Given the description of an element on the screen output the (x, y) to click on. 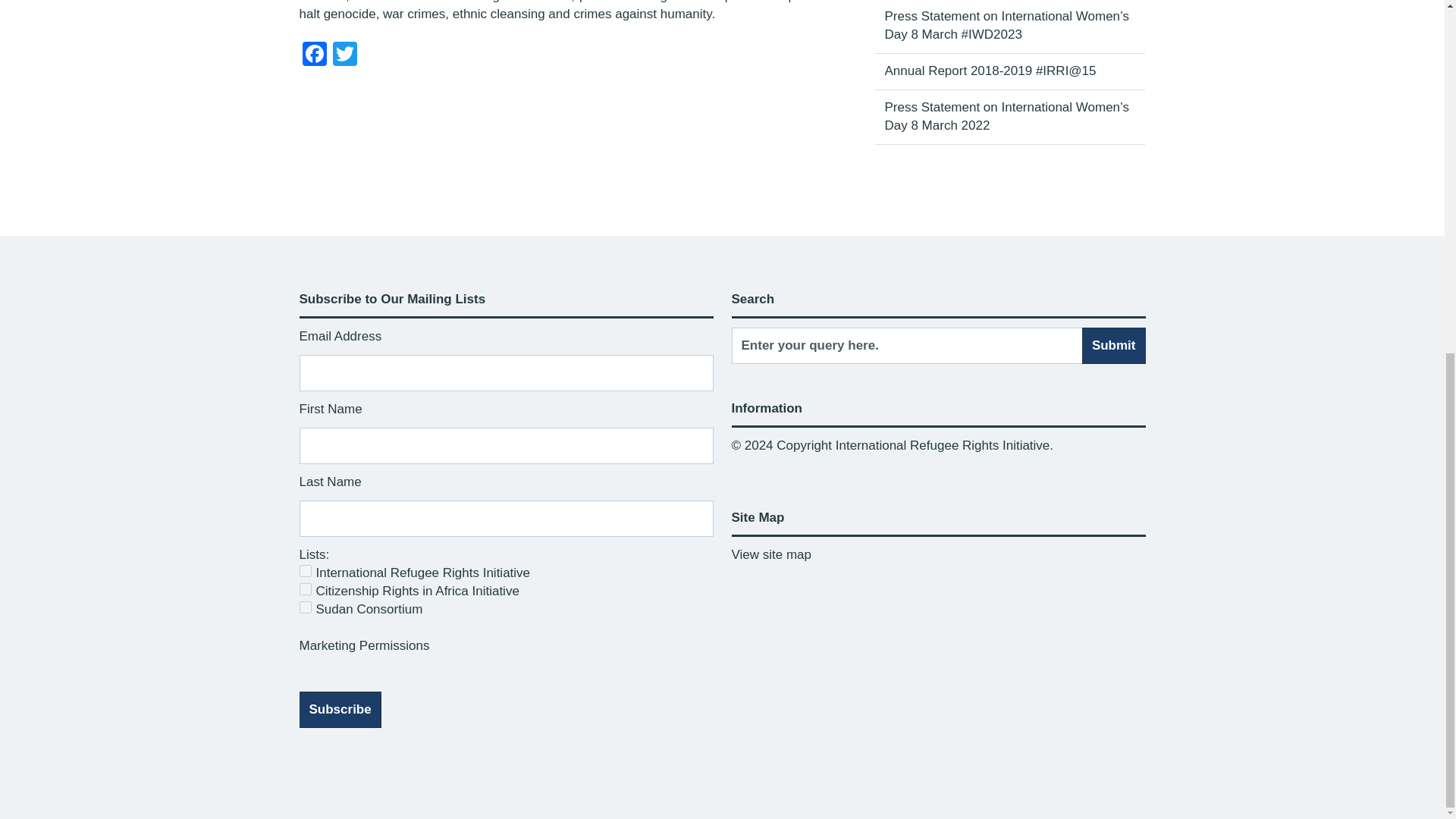
2 (304, 589)
Twitter (344, 55)
4 (304, 607)
1 (304, 571)
Facebook (313, 55)
Site-Map (770, 554)
Subscribe (339, 709)
Submit (1113, 345)
